Given the description of an element on the screen output the (x, y) to click on. 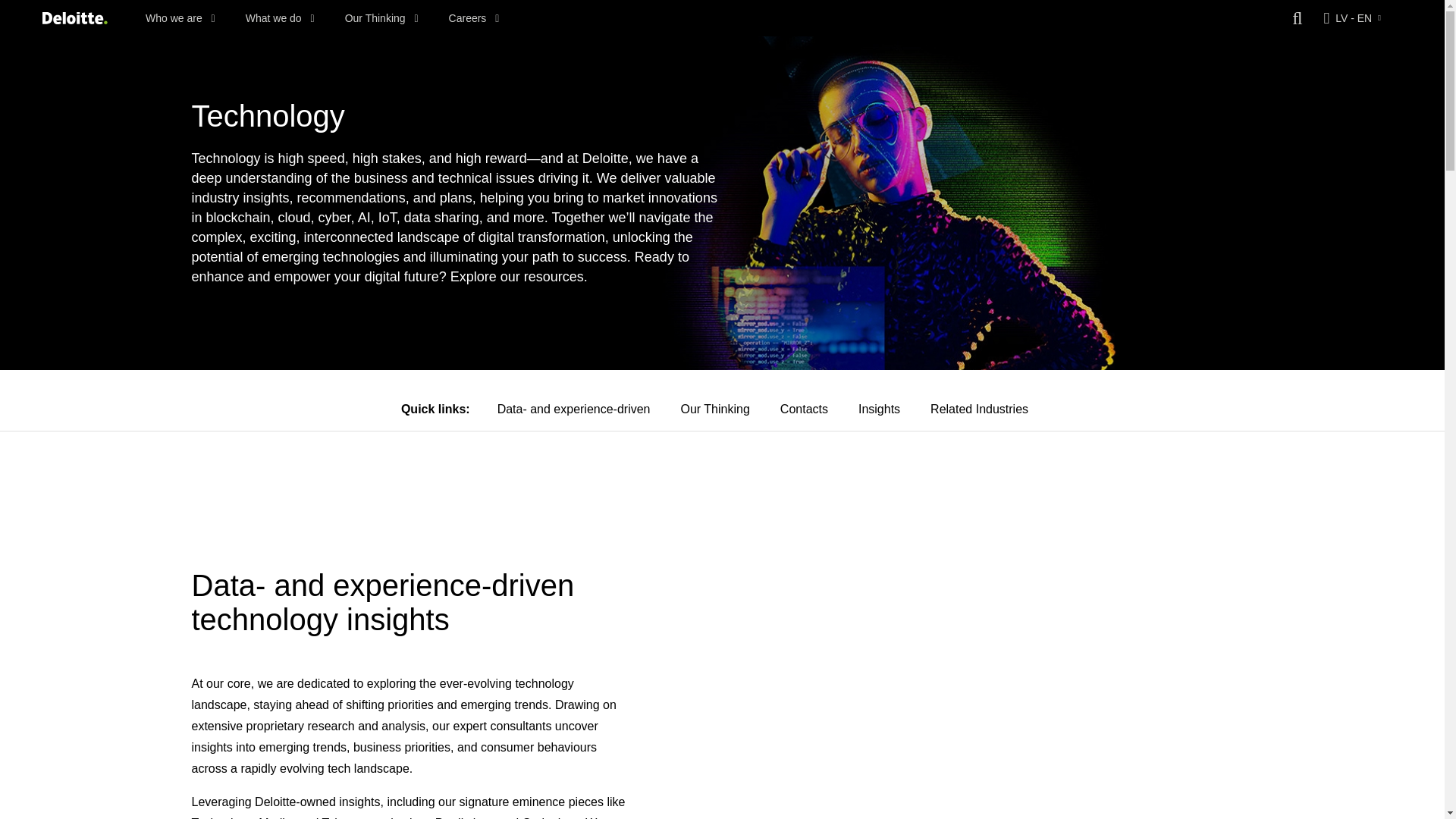
Our Thinking (382, 18)
Deloitte (74, 18)
Careers (473, 18)
What we do (280, 18)
Who we are (180, 18)
